Given the description of an element on the screen output the (x, y) to click on. 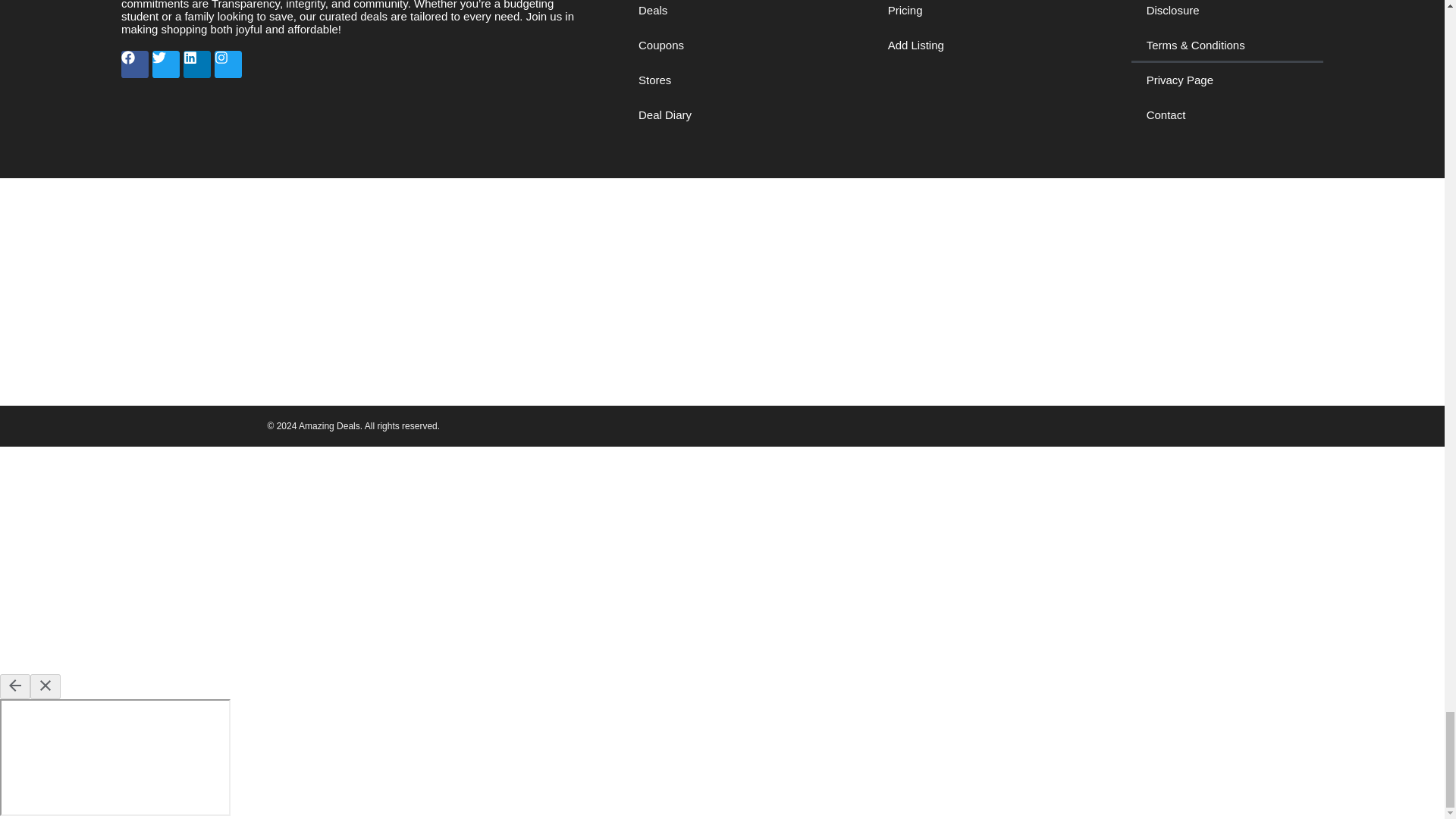
Coupons (733, 45)
Pricing (986, 13)
Stores (733, 80)
Deals (733, 13)
Deal Diary (733, 114)
Add Listing (986, 45)
